Given the description of an element on the screen output the (x, y) to click on. 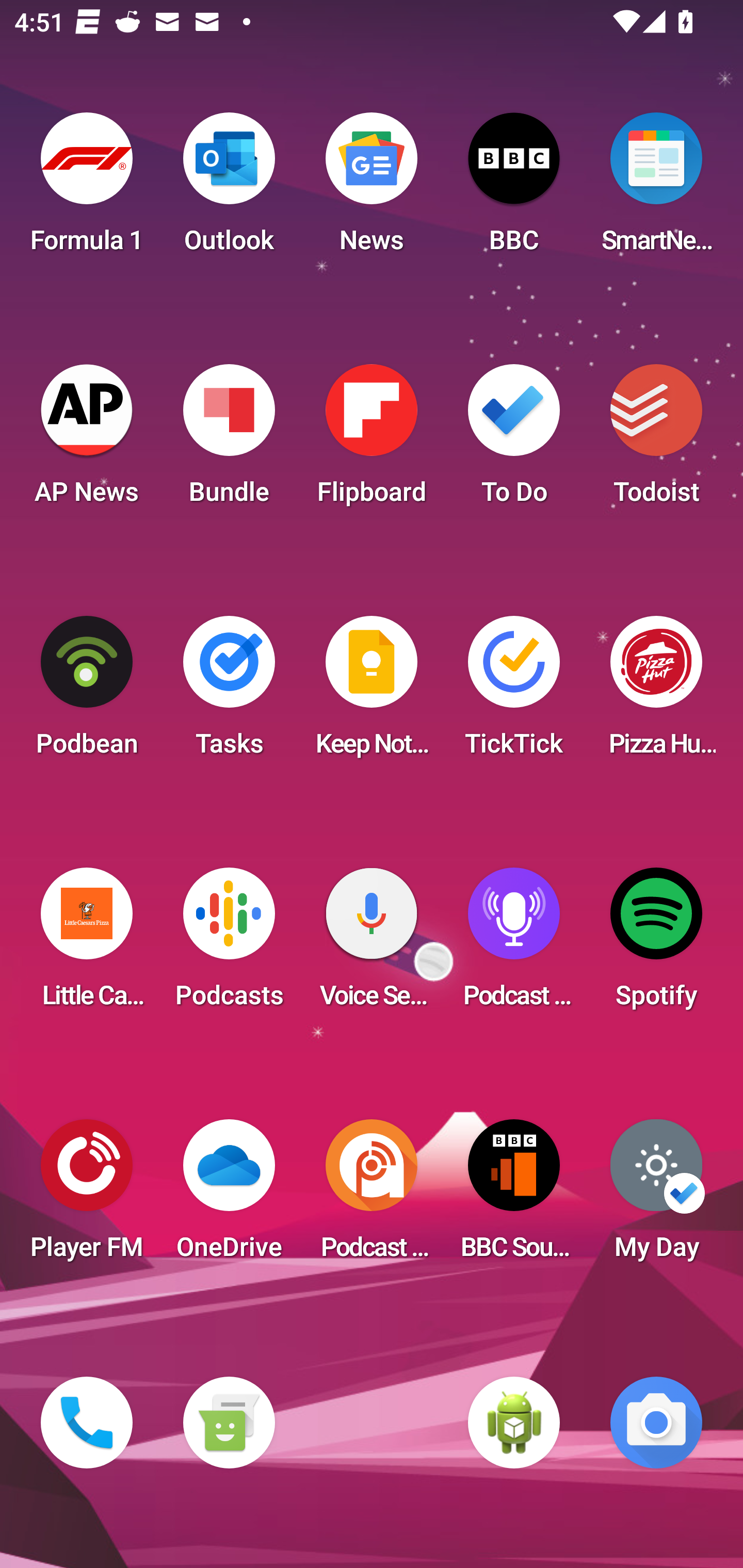
Formula 1 (86, 188)
Outlook (228, 188)
News (371, 188)
BBC (513, 188)
SmartNews (656, 188)
AP News (86, 440)
Bundle (228, 440)
Flipboard (371, 440)
To Do (513, 440)
Todoist (656, 440)
Podbean (86, 692)
Tasks (228, 692)
Keep Notes (371, 692)
TickTick (513, 692)
Pizza Hut HK & Macau (656, 692)
Little Caesars Pizza (86, 943)
Podcasts (228, 943)
Voice Search (371, 943)
Podcast Player (513, 943)
Spotify (656, 943)
Player FM (86, 1195)
OneDrive (228, 1195)
Podcast Addict (371, 1195)
BBC Sounds (513, 1195)
My Day (656, 1195)
Phone (86, 1422)
Messaging (228, 1422)
WebView Browser Tester (513, 1422)
Camera (656, 1422)
